Given the description of an element on the screen output the (x, y) to click on. 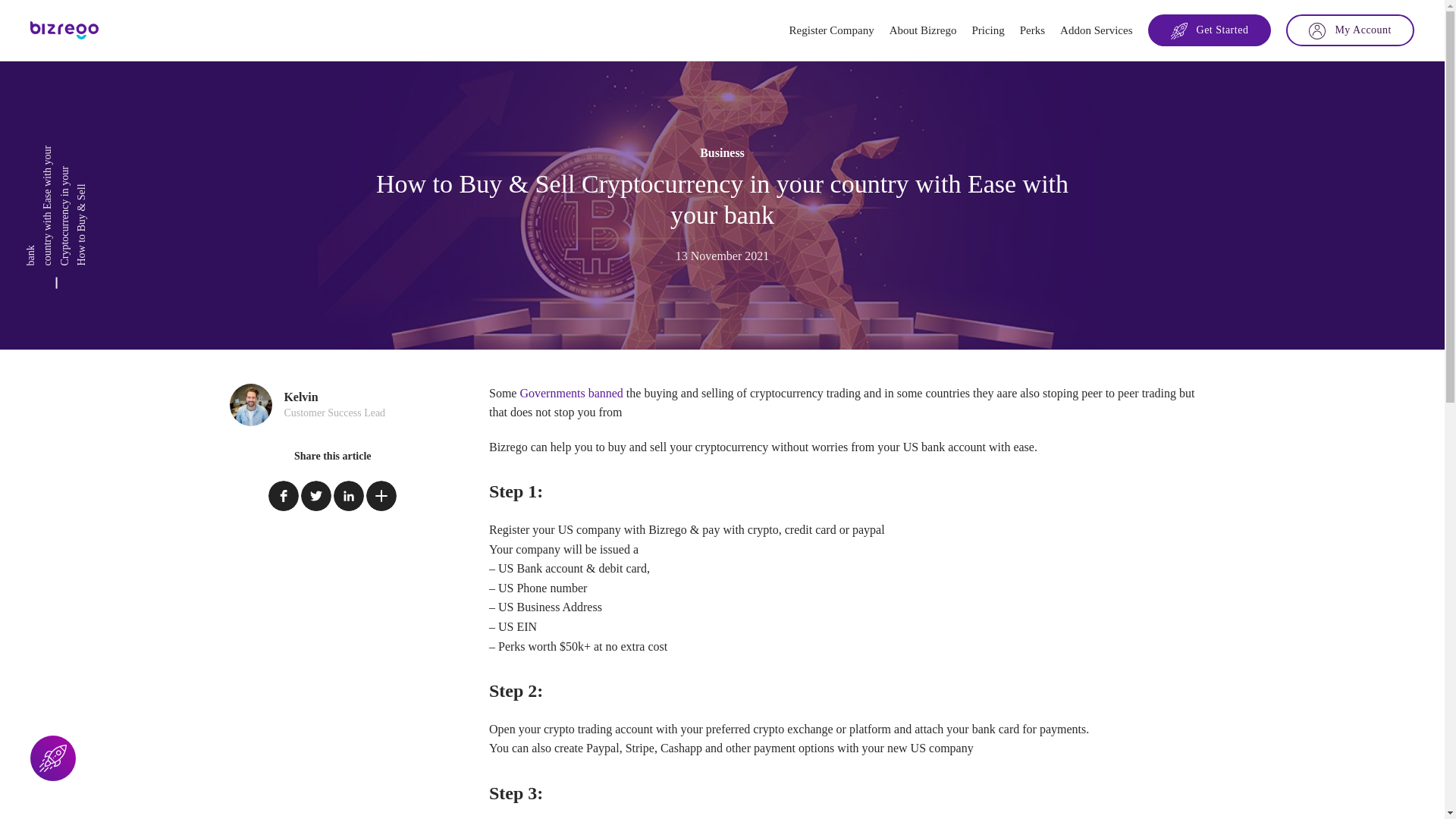
Facebook (282, 495)
My Menu (1349, 29)
Business (722, 152)
Register Company (831, 30)
Share this article (331, 456)
LinkedIn (348, 495)
About Bizrego (922, 30)
More (381, 495)
13 November 2021 (722, 256)
Twitter (316, 495)
